Given the description of an element on the screen output the (x, y) to click on. 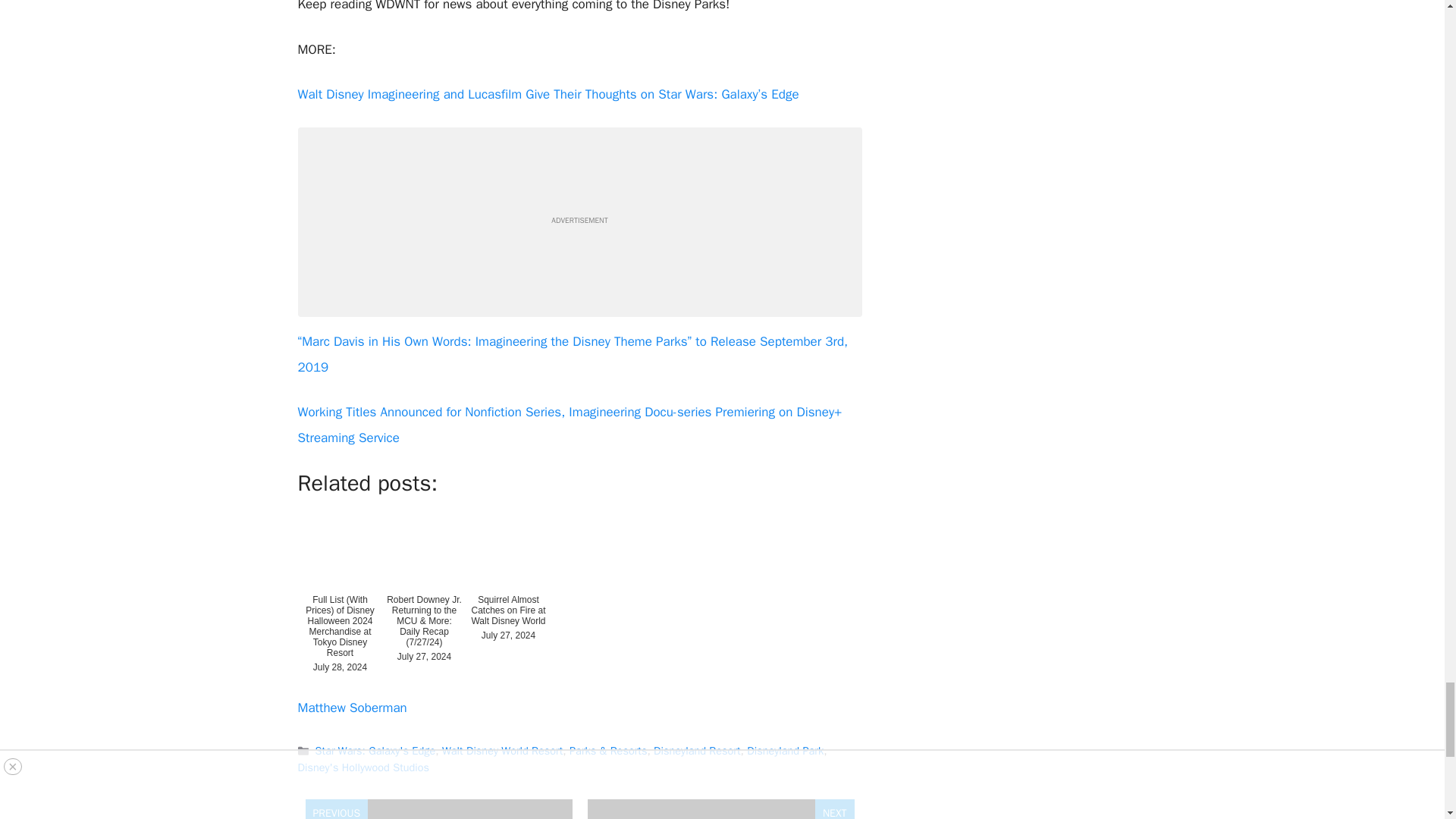
Matthew Soberman (351, 707)
